Given the description of an element on the screen output the (x, y) to click on. 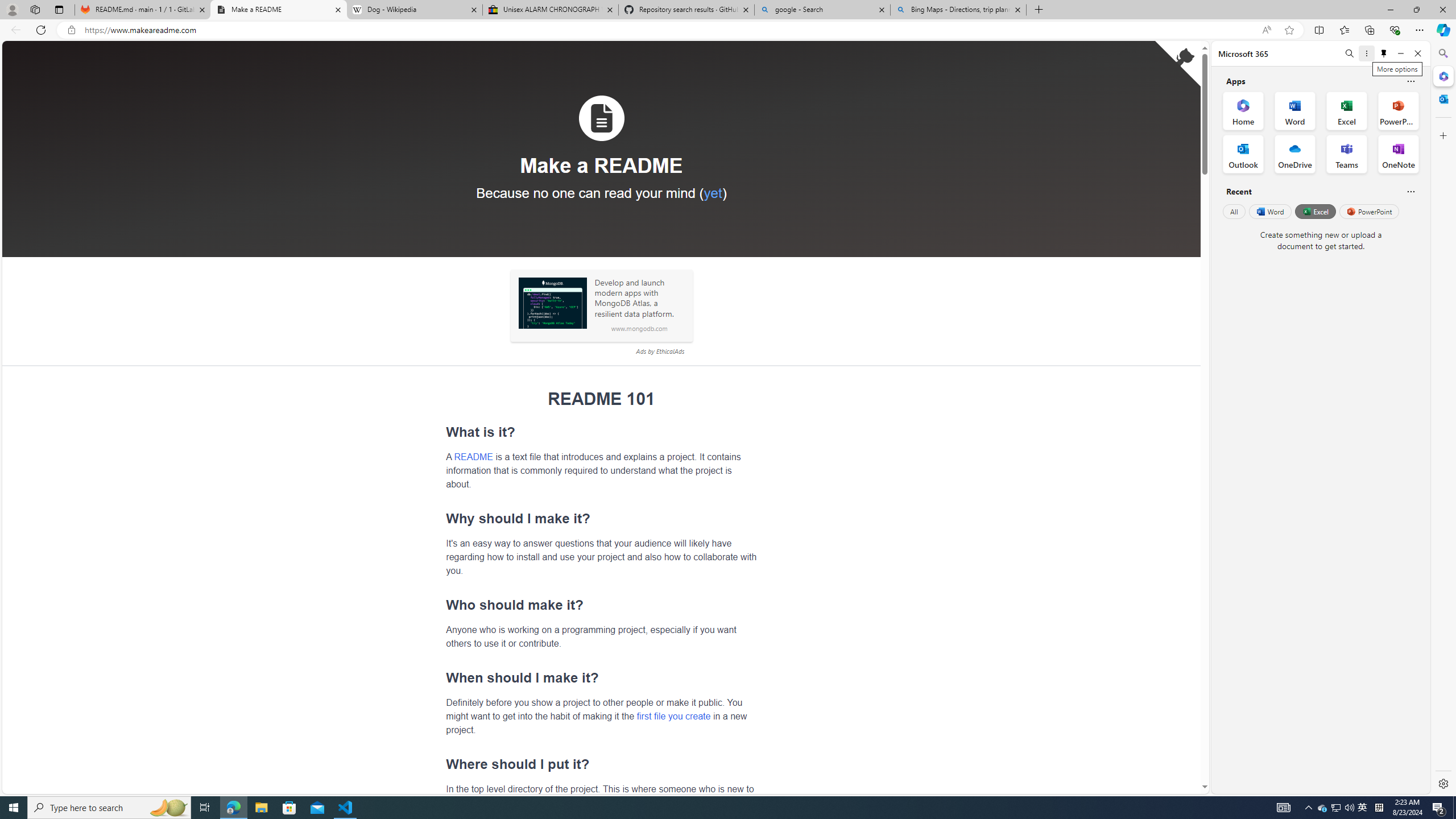
Anchor (440, 764)
Excel (1315, 210)
yet (712, 192)
Home Office App (1243, 110)
OneDrive Office App (1295, 154)
Outlook Office App (1243, 154)
first file you create (673, 715)
Sponsored: MongoDB (552, 302)
README (473, 456)
All (1233, 210)
